Given the description of an element on the screen output the (x, y) to click on. 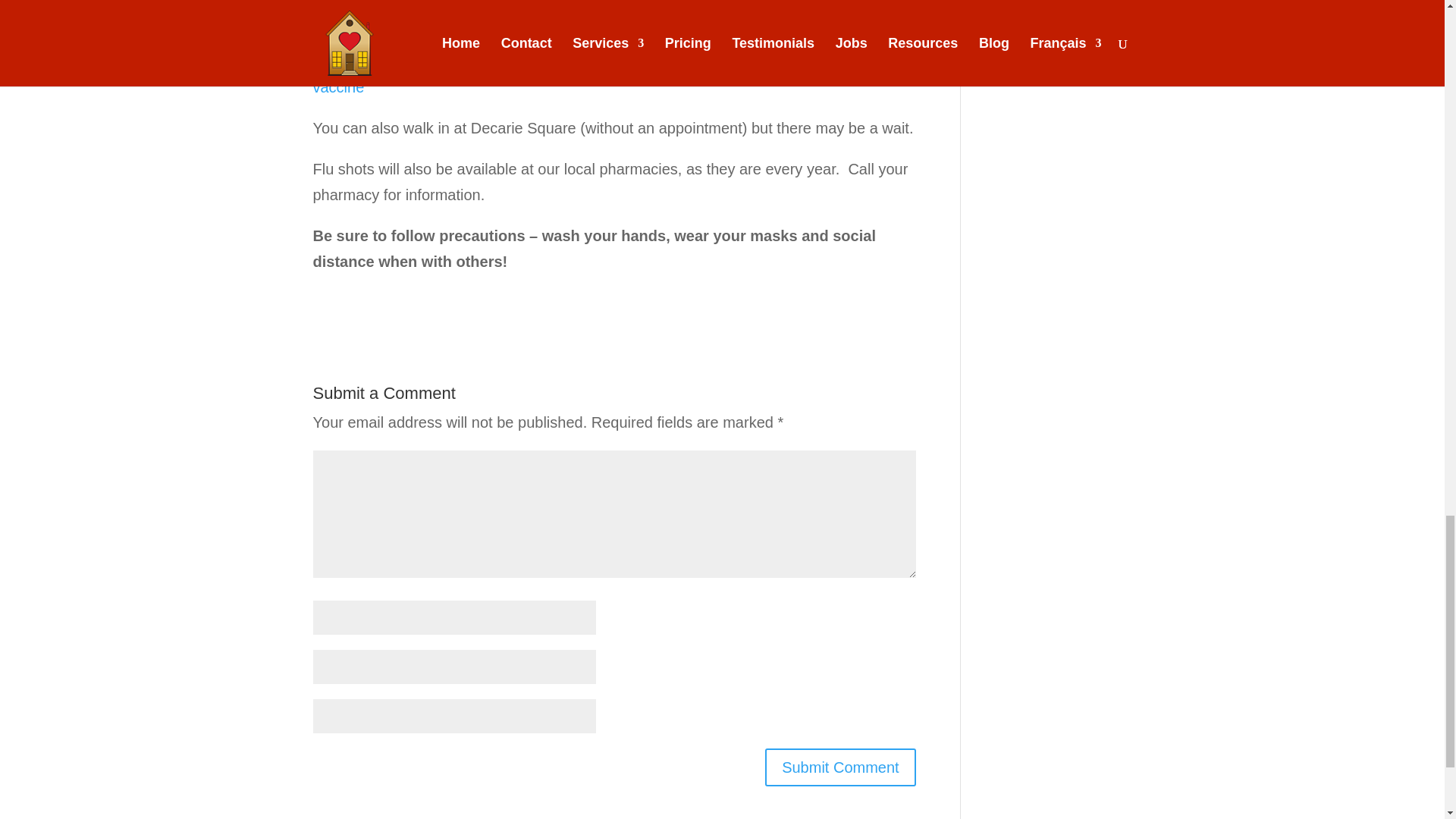
Submit Comment (840, 767)
